Given the description of an element on the screen output the (x, y) to click on. 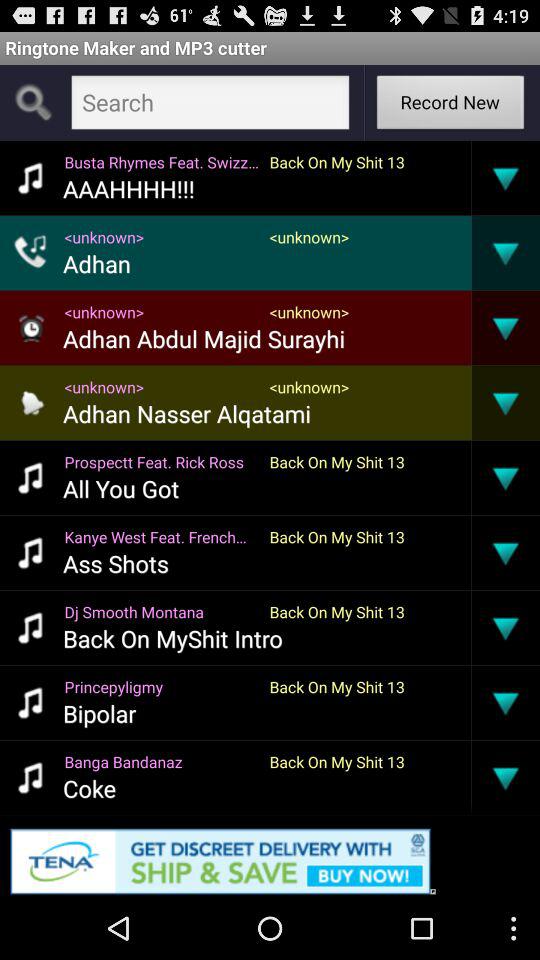
turn off item next to <unknown> (471, 327)
